Given the description of an element on the screen output the (x, y) to click on. 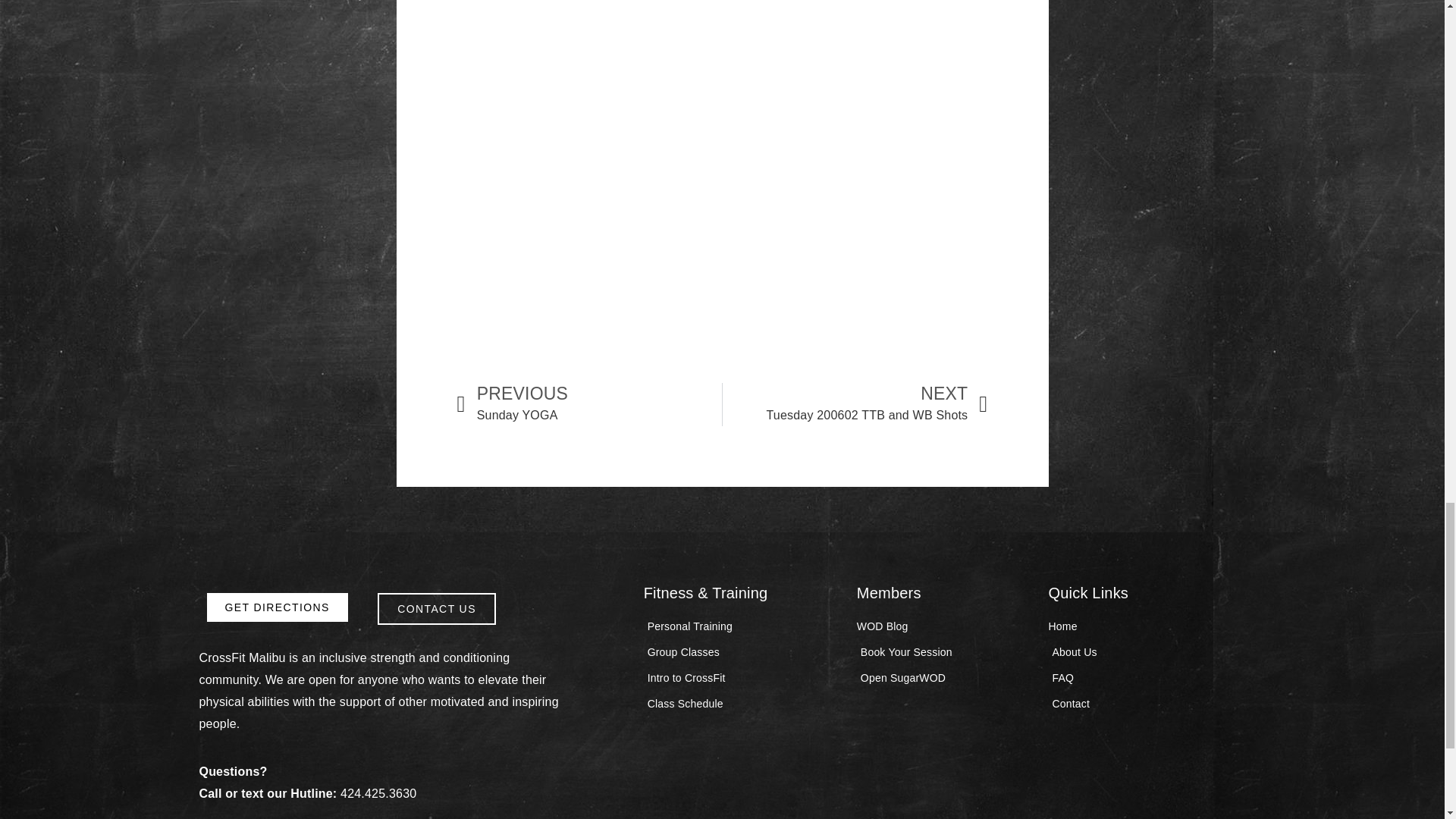
Class Schedule (742, 703)
Personal Training (742, 626)
Intro to CrossFit (742, 678)
Book Your Session (589, 404)
GET DIRECTIONS (945, 652)
Open SugarWOD (855, 404)
WOD Blog (276, 606)
About Us (945, 678)
